Given the description of an element on the screen output the (x, y) to click on. 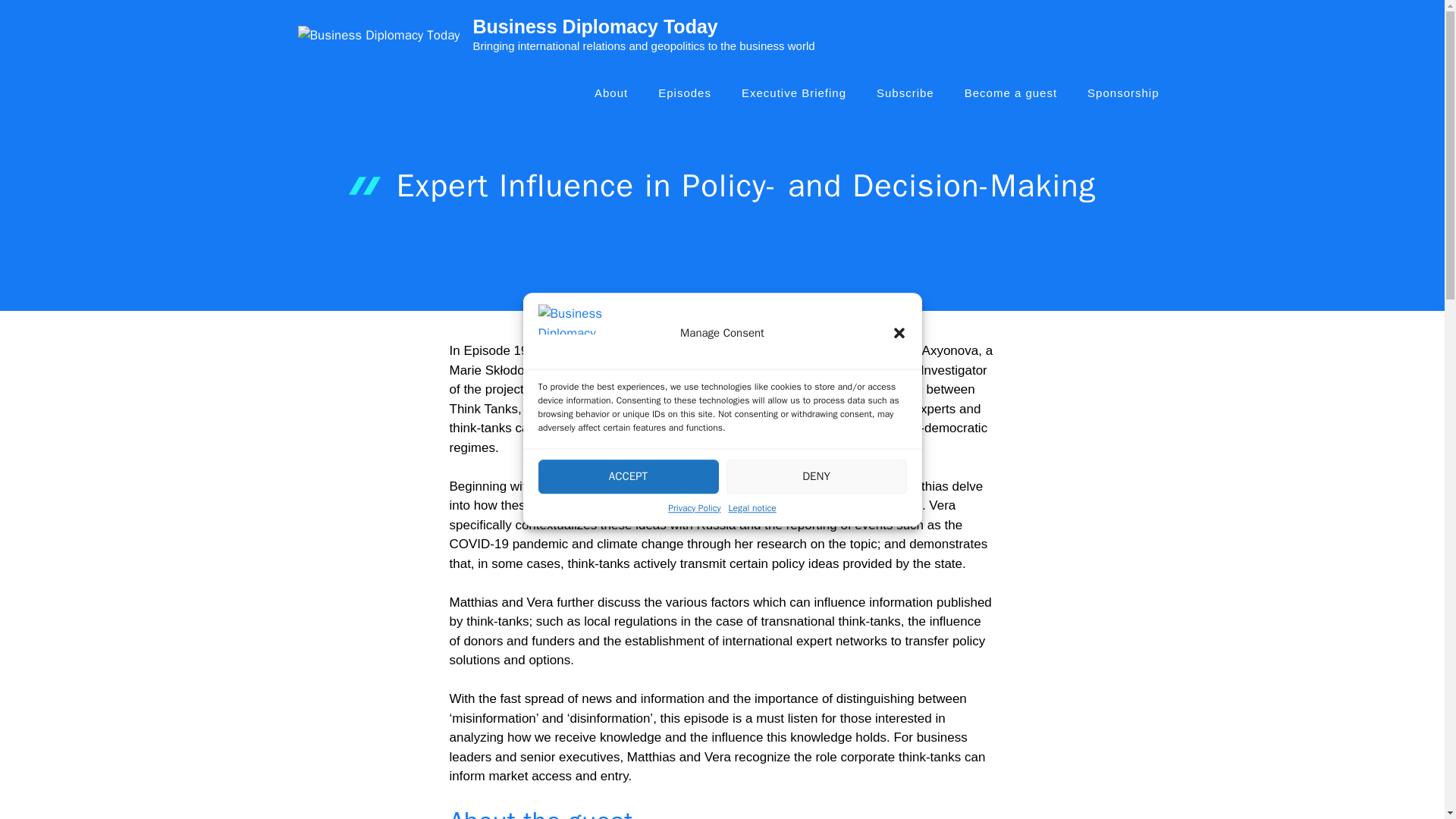
Legal notice (752, 508)
Privacy Policy (694, 508)
Business Diplomacy Today (594, 25)
Become a guest (1010, 92)
DENY (816, 476)
Subscribe (905, 92)
ACCEPT (628, 476)
Sponsorship (1122, 92)
Episodes (684, 92)
Executive Briefing (793, 92)
About (611, 92)
